Given the description of an element on the screen output the (x, y) to click on. 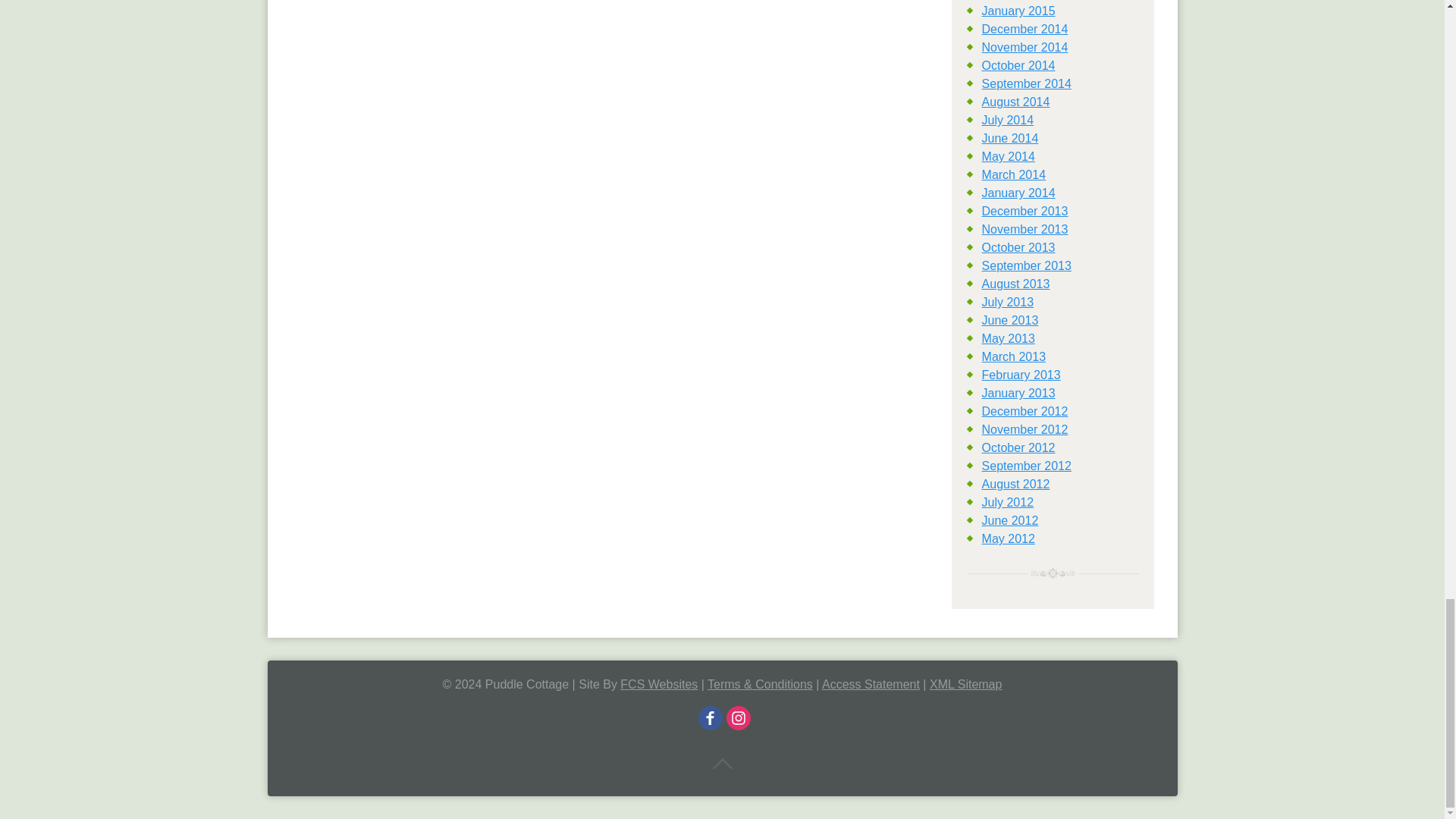
web design nottingham (658, 684)
